Given the description of an element on the screen output the (x, y) to click on. 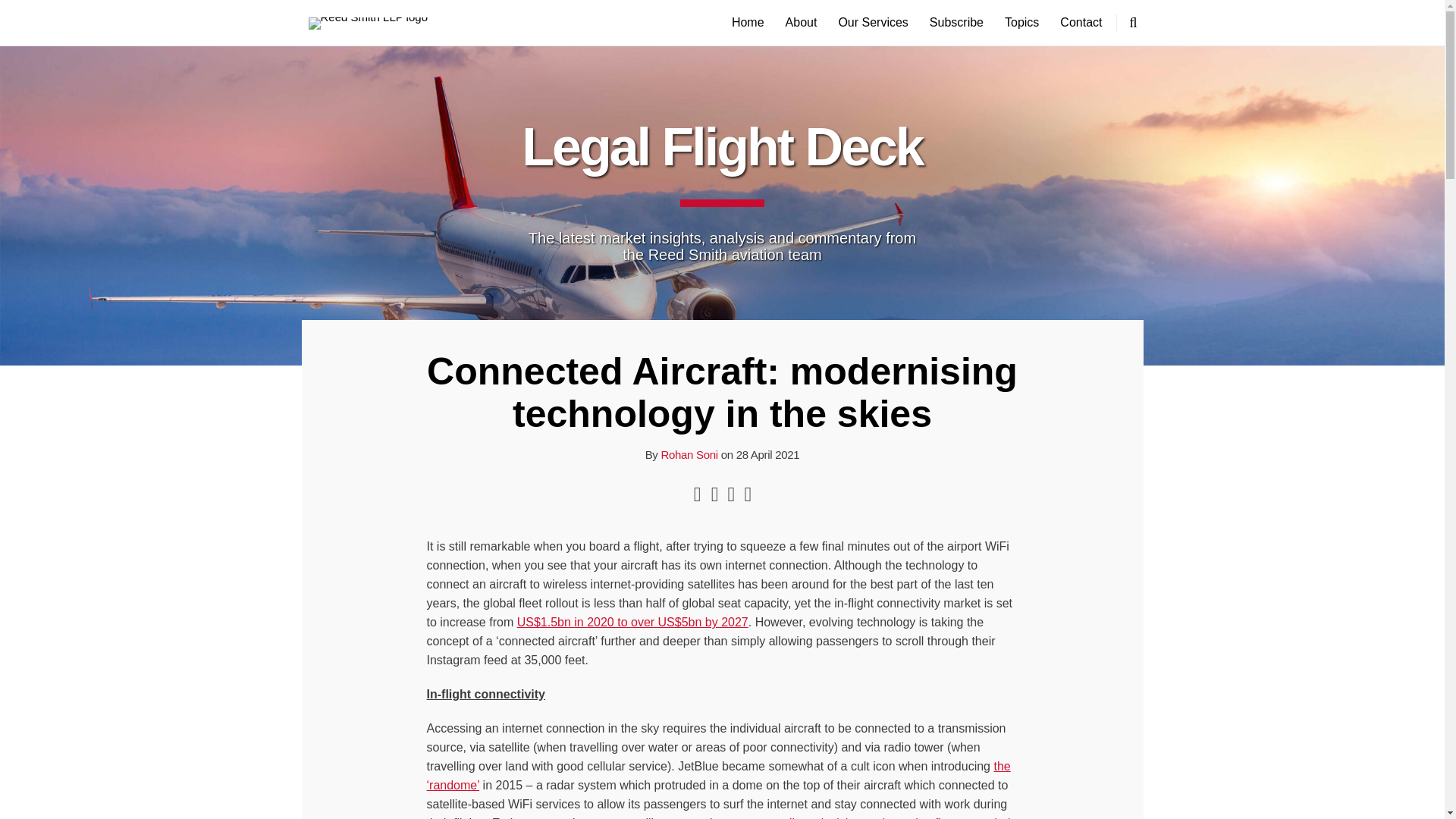
About (801, 22)
Topics (1021, 22)
Contact (1080, 22)
Legal Flight Deck (722, 146)
Home (748, 22)
Rohan Soni (689, 454)
Subscribe (957, 22)
Our Services (872, 22)
